Given the description of an element on the screen output the (x, y) to click on. 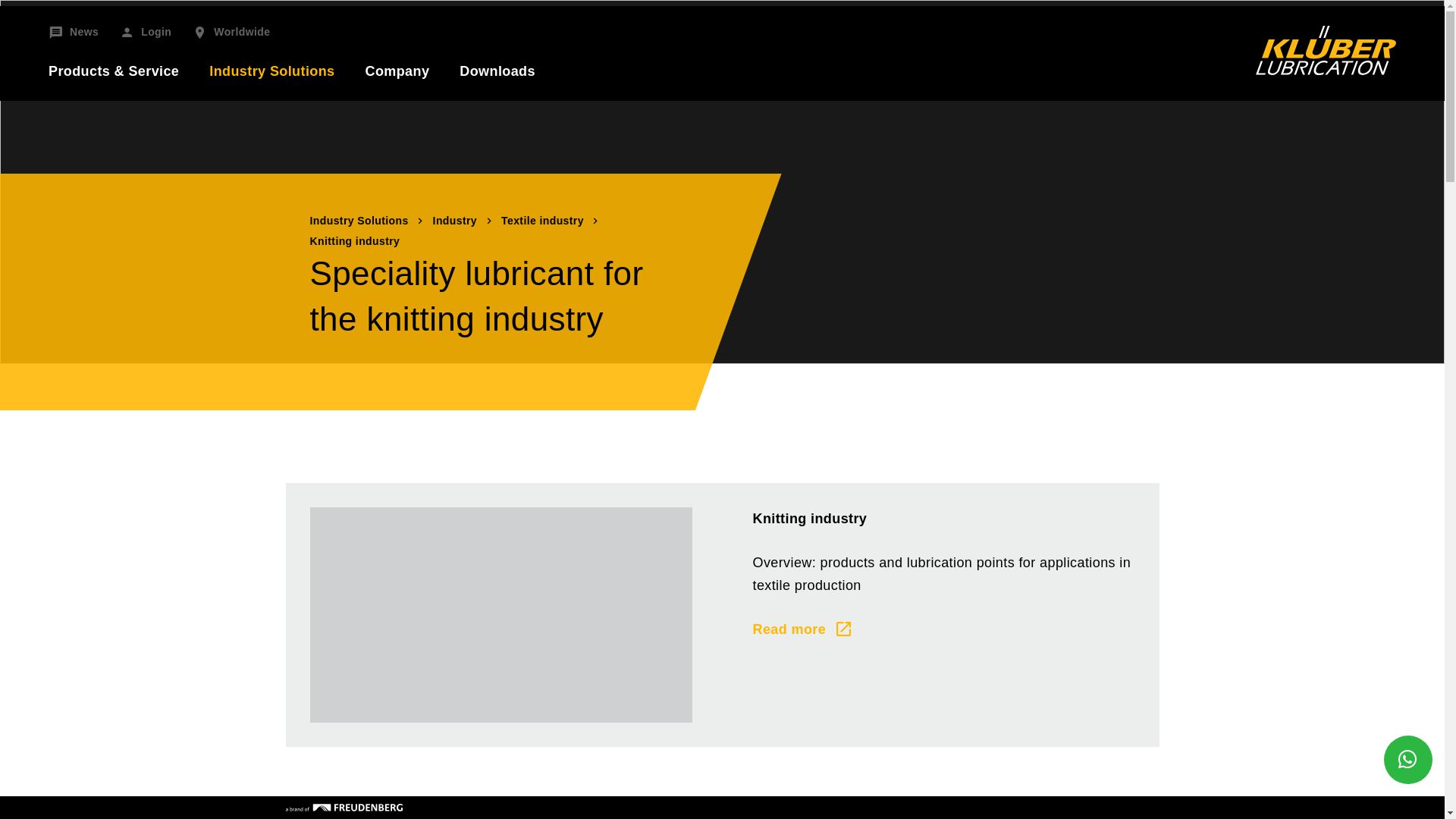
News (73, 32)
Worldwide (230, 32)
Login (145, 32)
